Given the description of an element on the screen output the (x, y) to click on. 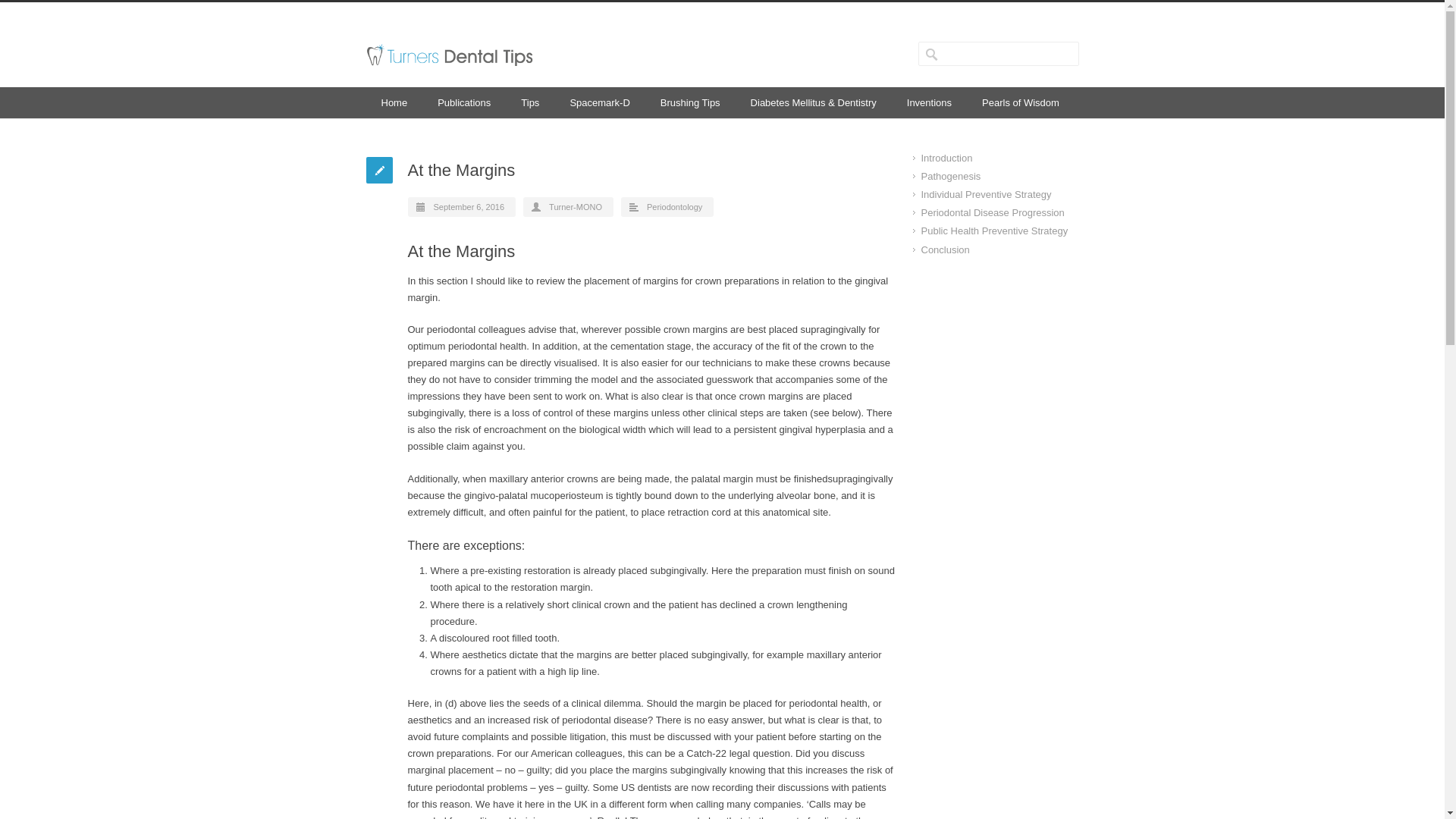
Inventions (928, 101)
Public Health Preventive Strategy (993, 230)
Brushing Tips (690, 101)
Home (393, 101)
Introduction (946, 157)
Pearls of Wisdom (1020, 101)
Search (68, 11)
Publications (463, 101)
Pathogenesis (949, 175)
Individual Preventive Strategy (985, 194)
Turner-MONO (575, 206)
Spacemark-D (599, 101)
Periodontology (673, 206)
Periodontal Disease Progression (992, 212)
Tips (529, 101)
